Given the description of an element on the screen output the (x, y) to click on. 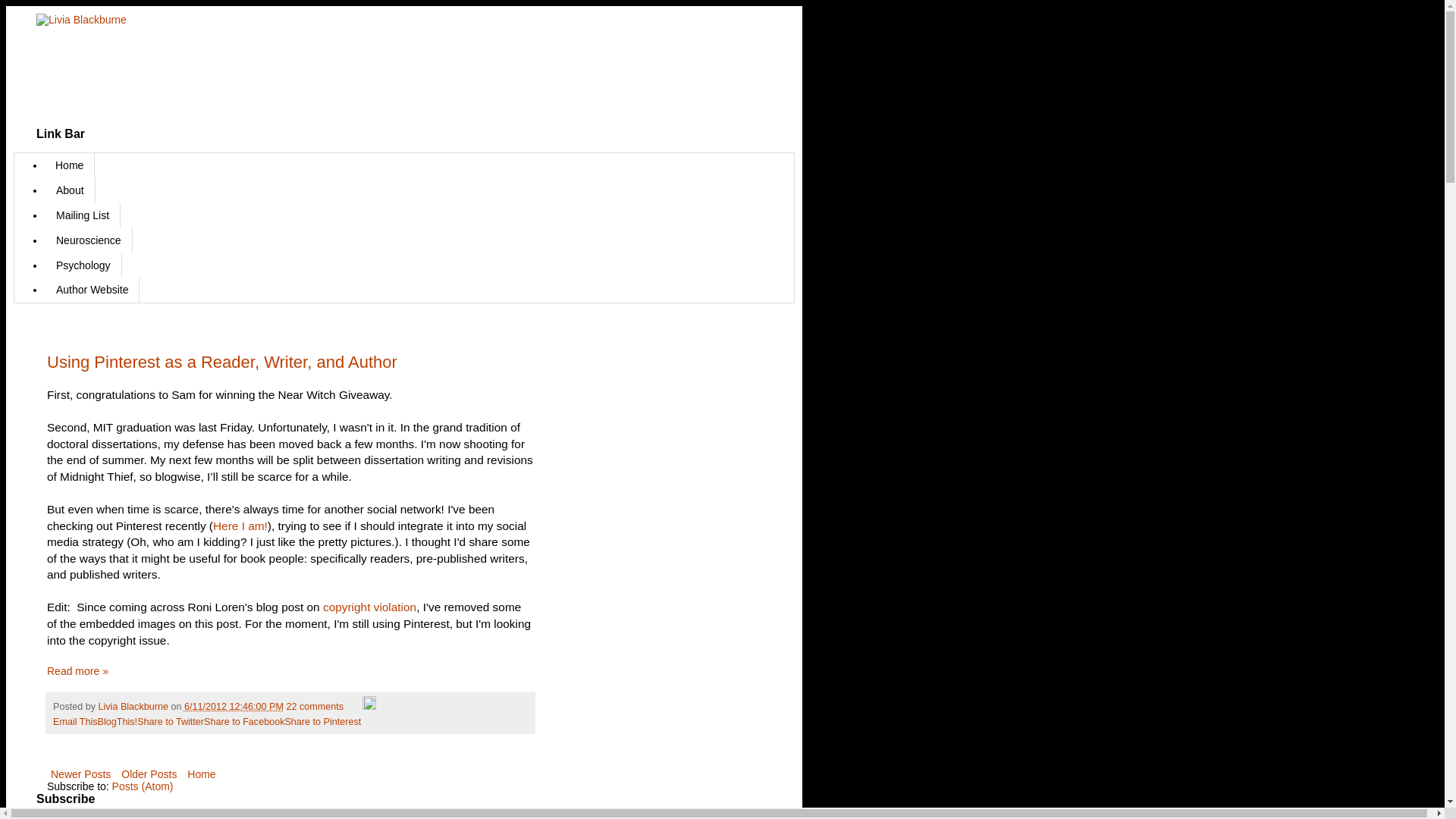
Using Pinterest as a Reader, Writer, and Author (221, 361)
Here I am! (239, 525)
Older Posts (148, 773)
Home (201, 773)
Neuroscience (88, 239)
Share to Twitter (169, 721)
permanent link (233, 706)
Older Posts (148, 773)
Share to Facebook (243, 721)
BlogThis! (117, 721)
Edit Post (368, 706)
Psychology (83, 264)
Newer Posts (80, 773)
Share to Pinterest (322, 721)
Email Post (354, 706)
